Given the description of an element on the screen output the (x, y) to click on. 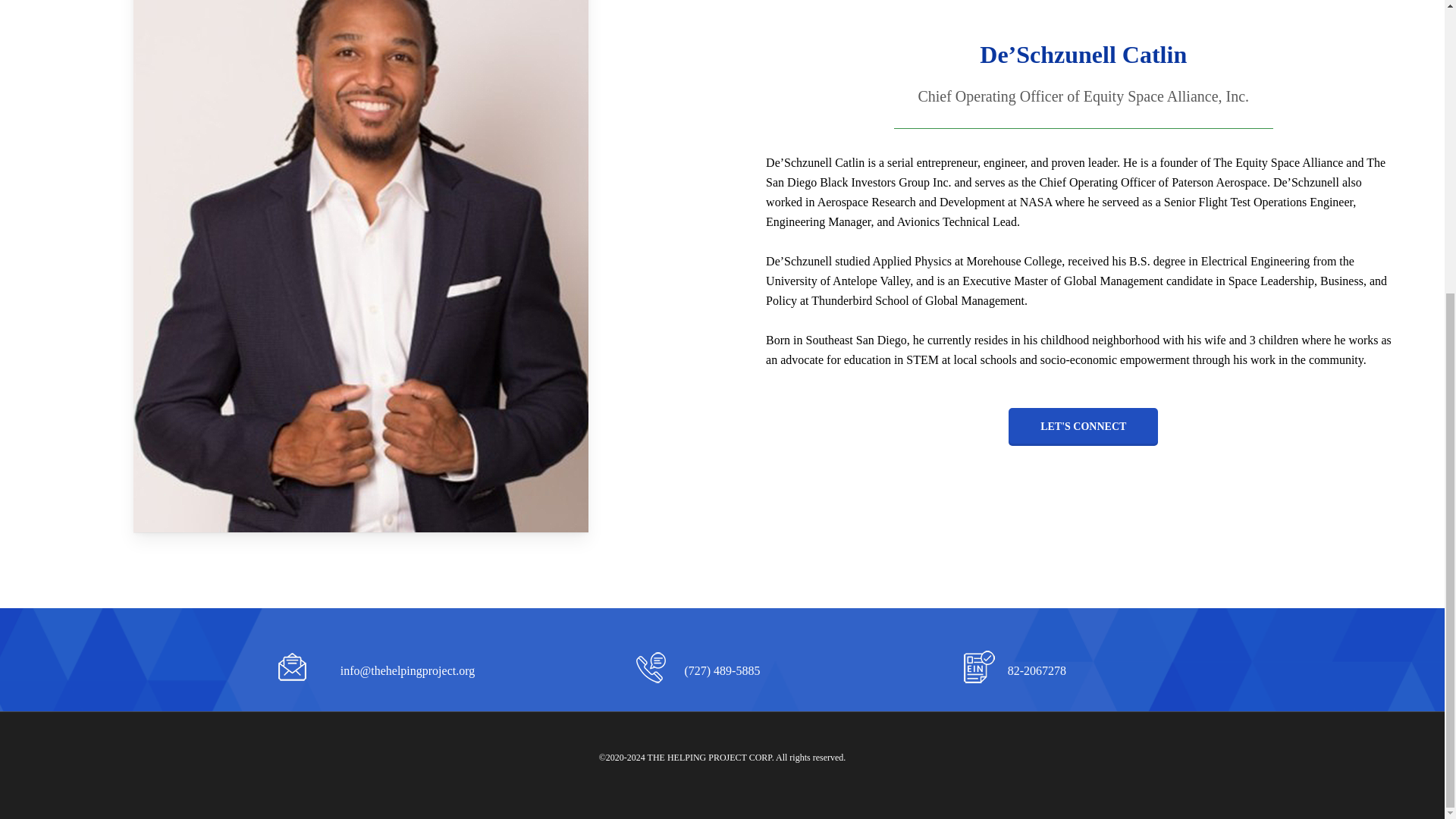
LET'S CONNECT (1083, 426)
